Given the description of an element on the screen output the (x, y) to click on. 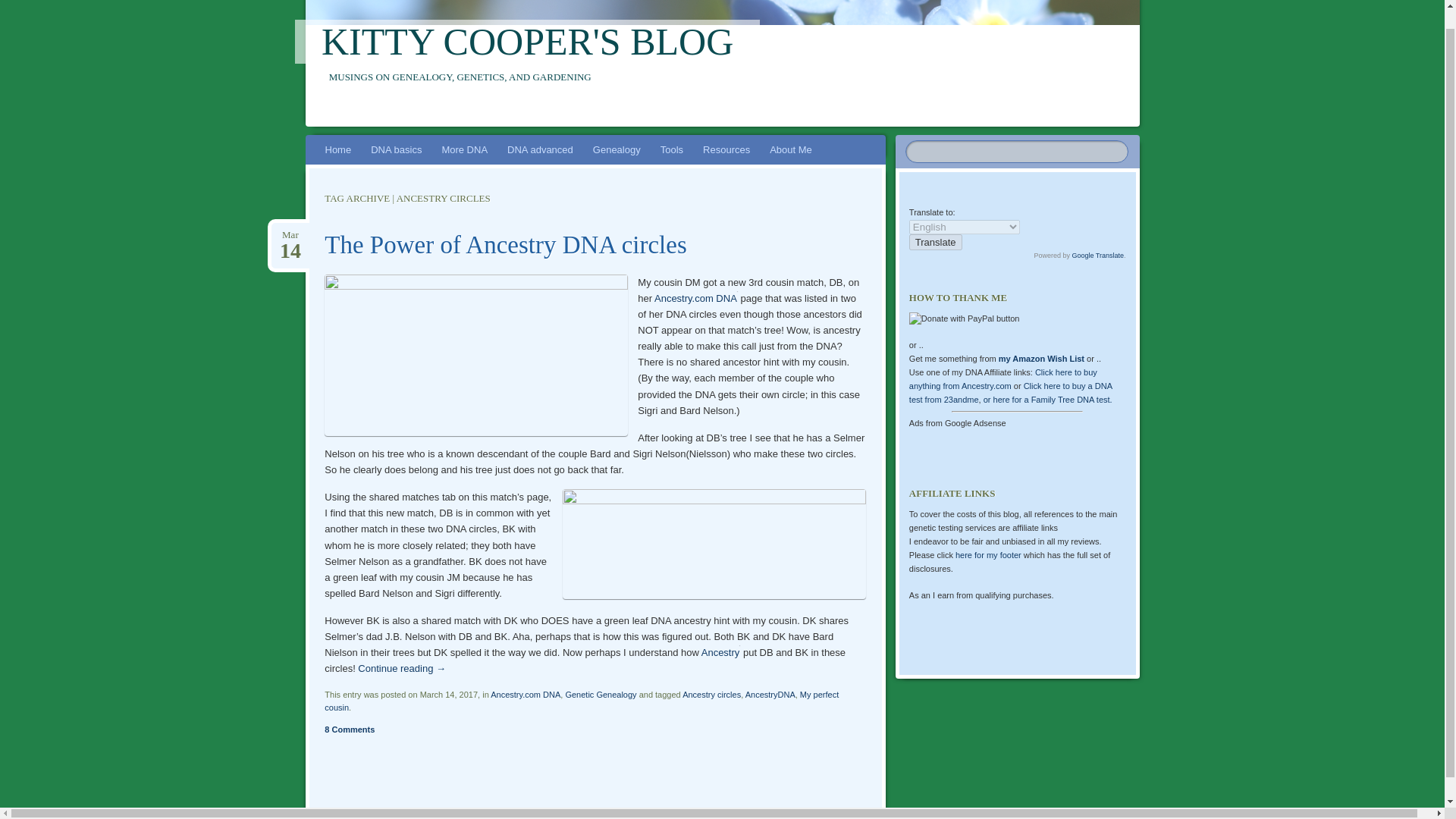
March 14, 2017 (289, 235)
Kitty Cooper's Blog (527, 41)
Skip to content (314, 168)
More DNA (463, 149)
Skip to content (314, 168)
KITTY COOPER'S BLOG (527, 41)
Translate (935, 242)
PayPal - The safer, easier way to pay online! (964, 318)
Home (338, 149)
DNA basics (395, 149)
